Given the description of an element on the screen output the (x, y) to click on. 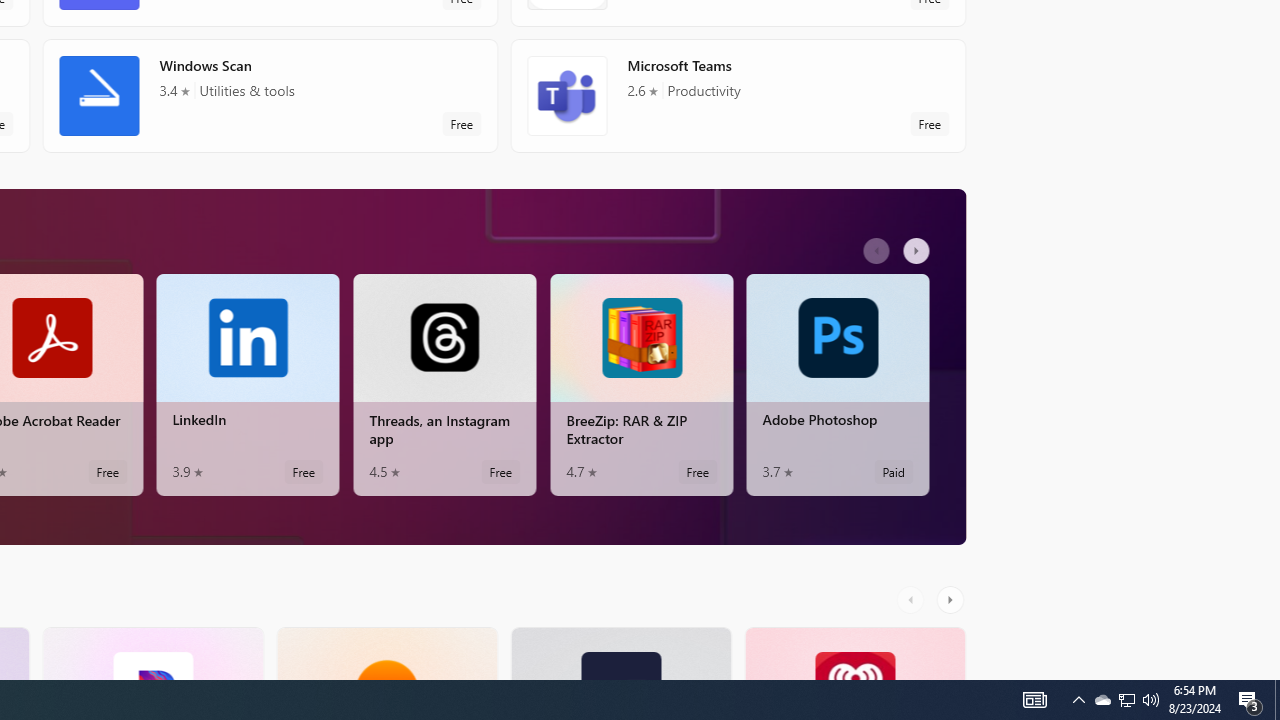
AutomationID: RightScrollButton (952, 599)
Pandora. Average rating of 4.5 out of five stars. Free   (152, 653)
AutomationID: LeftScrollButton (913, 599)
LinkedIn. Average rating of 3.9 out of five stars. Free   (247, 384)
